Given the description of an element on the screen output the (x, y) to click on. 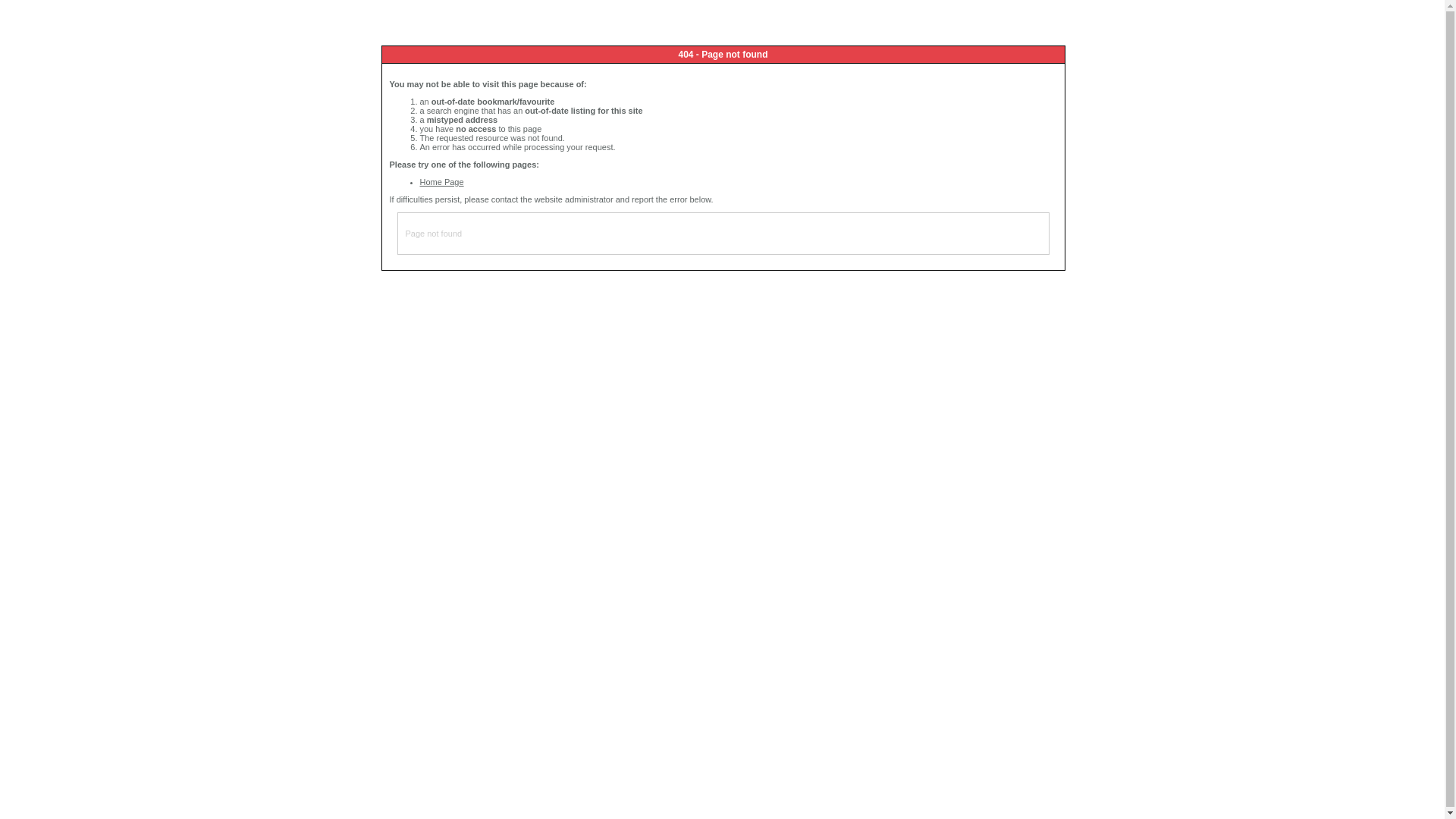
Home Page Element type: text (442, 181)
